Given the description of an element on the screen output the (x, y) to click on. 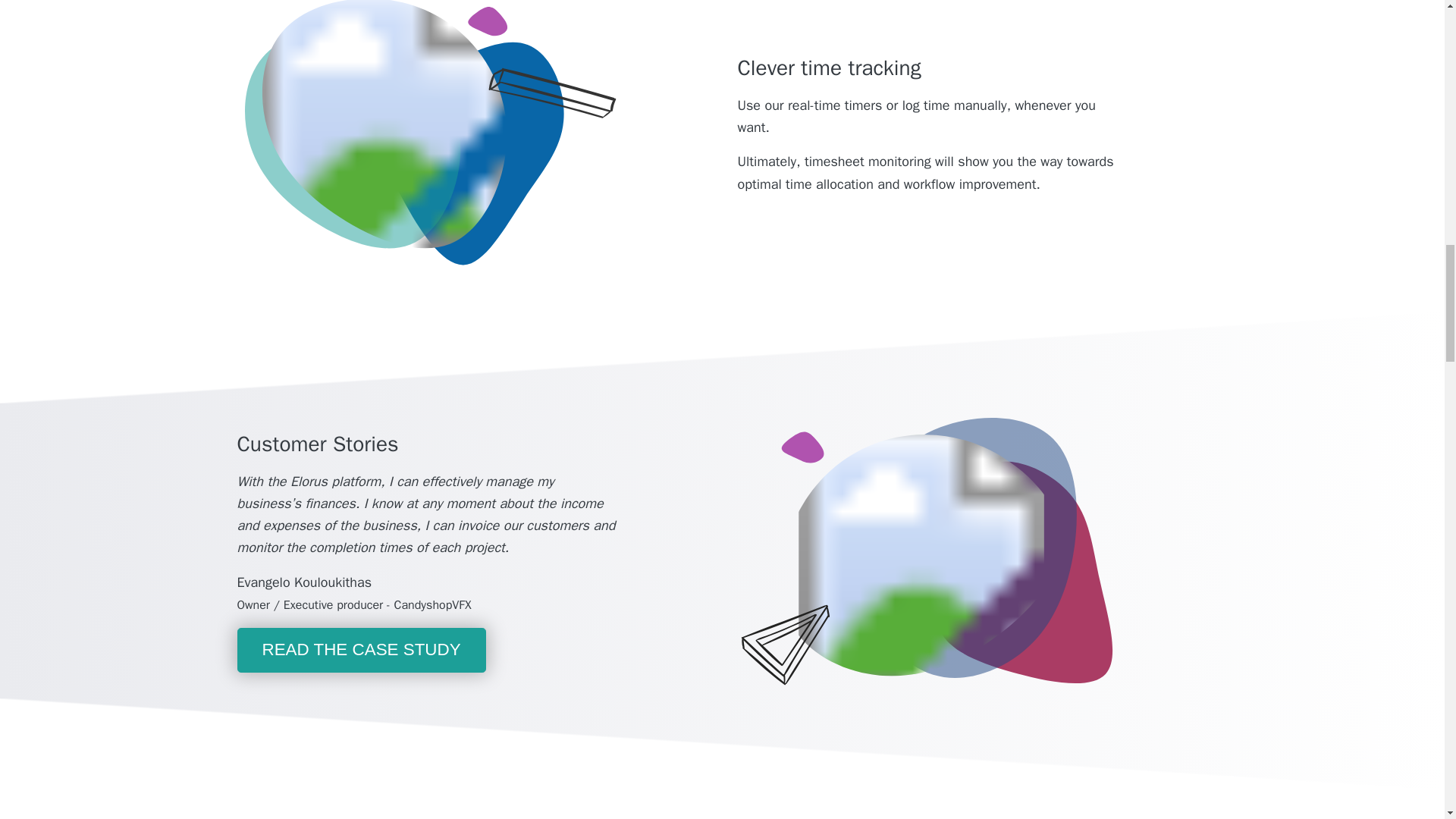
READ THE CASE STUDY (359, 650)
